Given the description of an element on the screen output the (x, y) to click on. 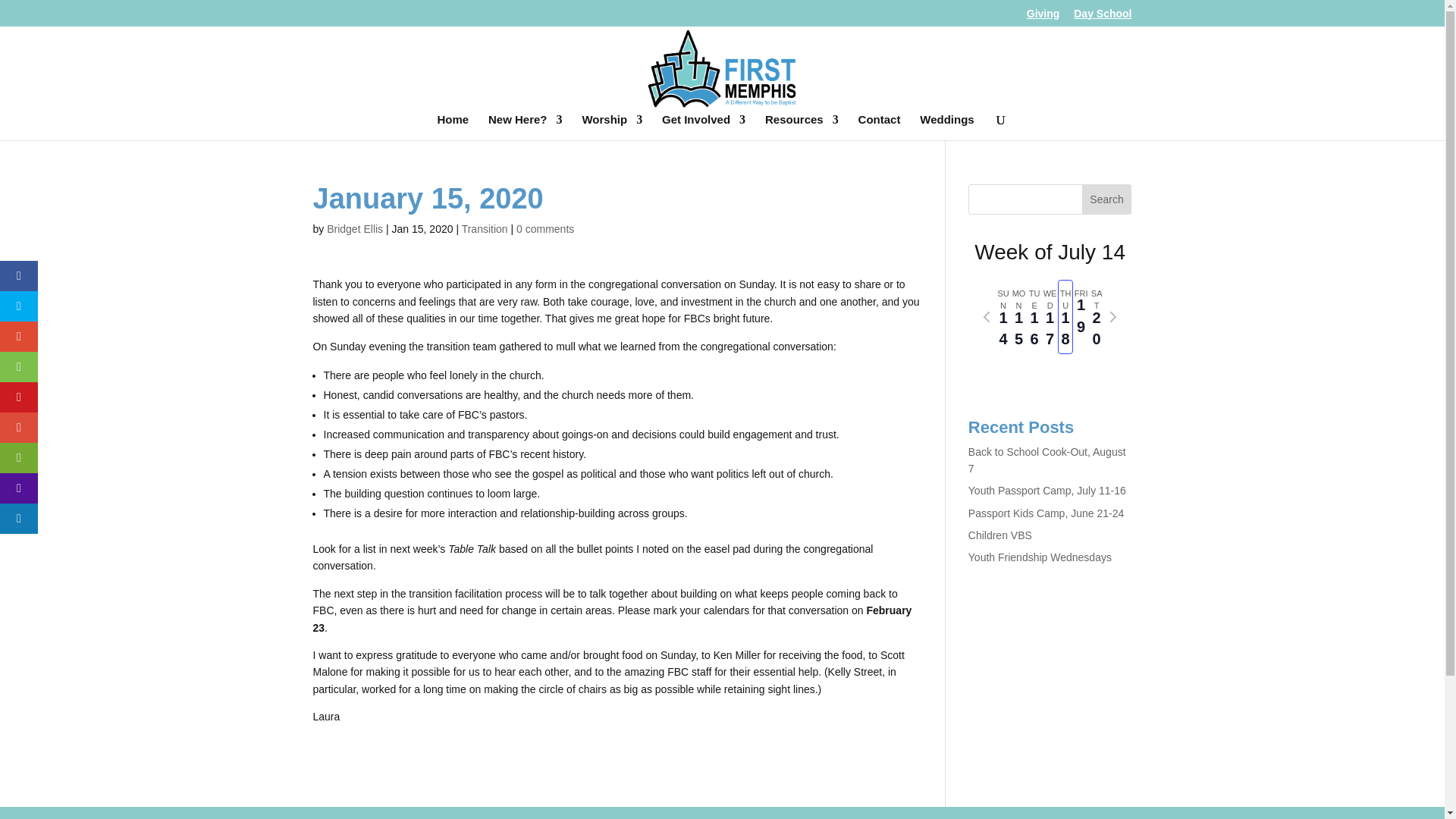
Posts by Bridget Ellis (354, 228)
Day School (1102, 16)
Giving (1042, 16)
Worship (611, 127)
Contact (880, 127)
Resources (801, 127)
New Here? (524, 127)
Home (452, 127)
Search (1106, 199)
Get Involved (703, 127)
Weddings (947, 127)
